Given the description of an element on the screen output the (x, y) to click on. 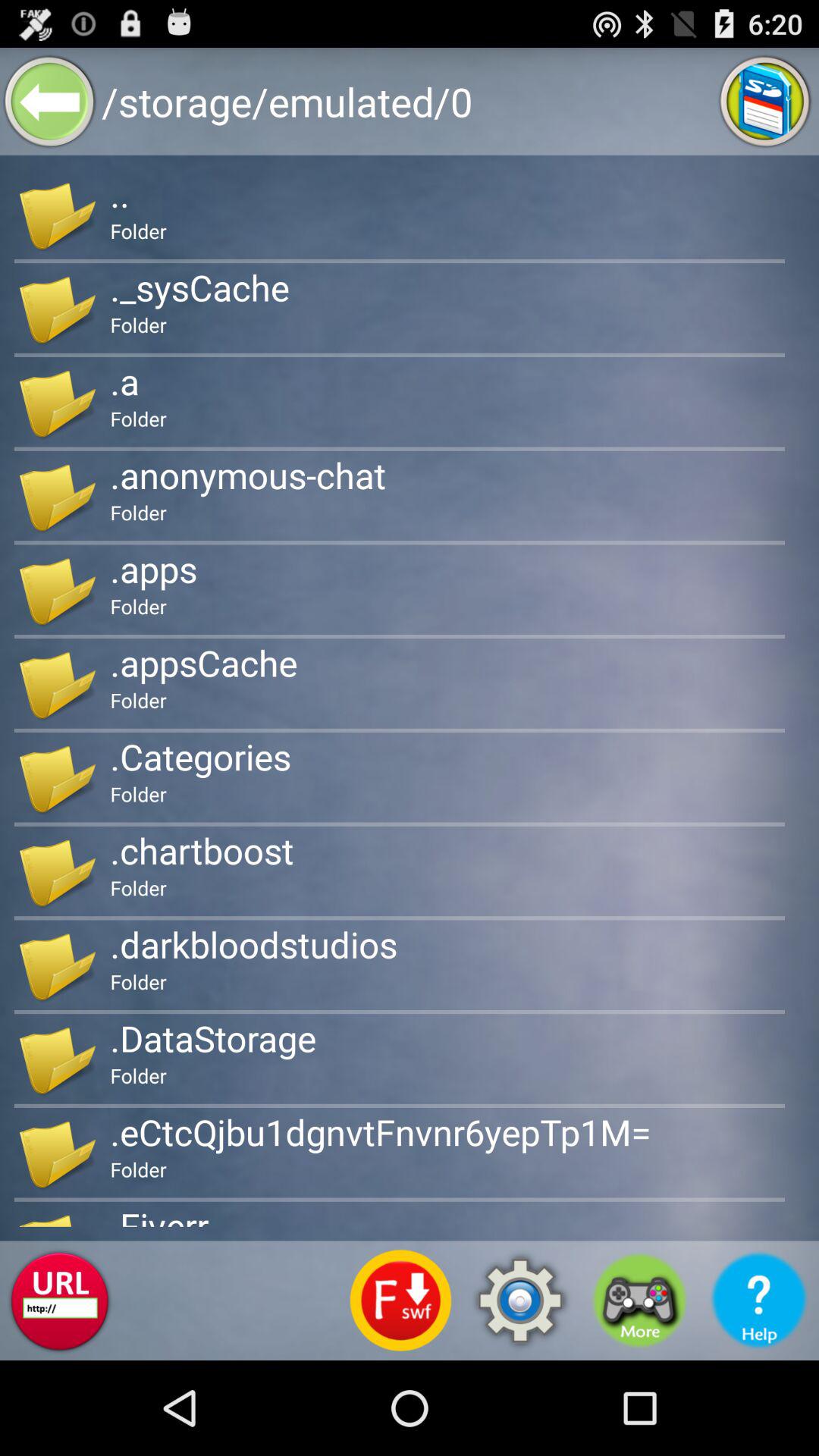
scroll to the .. app (119, 193)
